Given the description of an element on the screen output the (x, y) to click on. 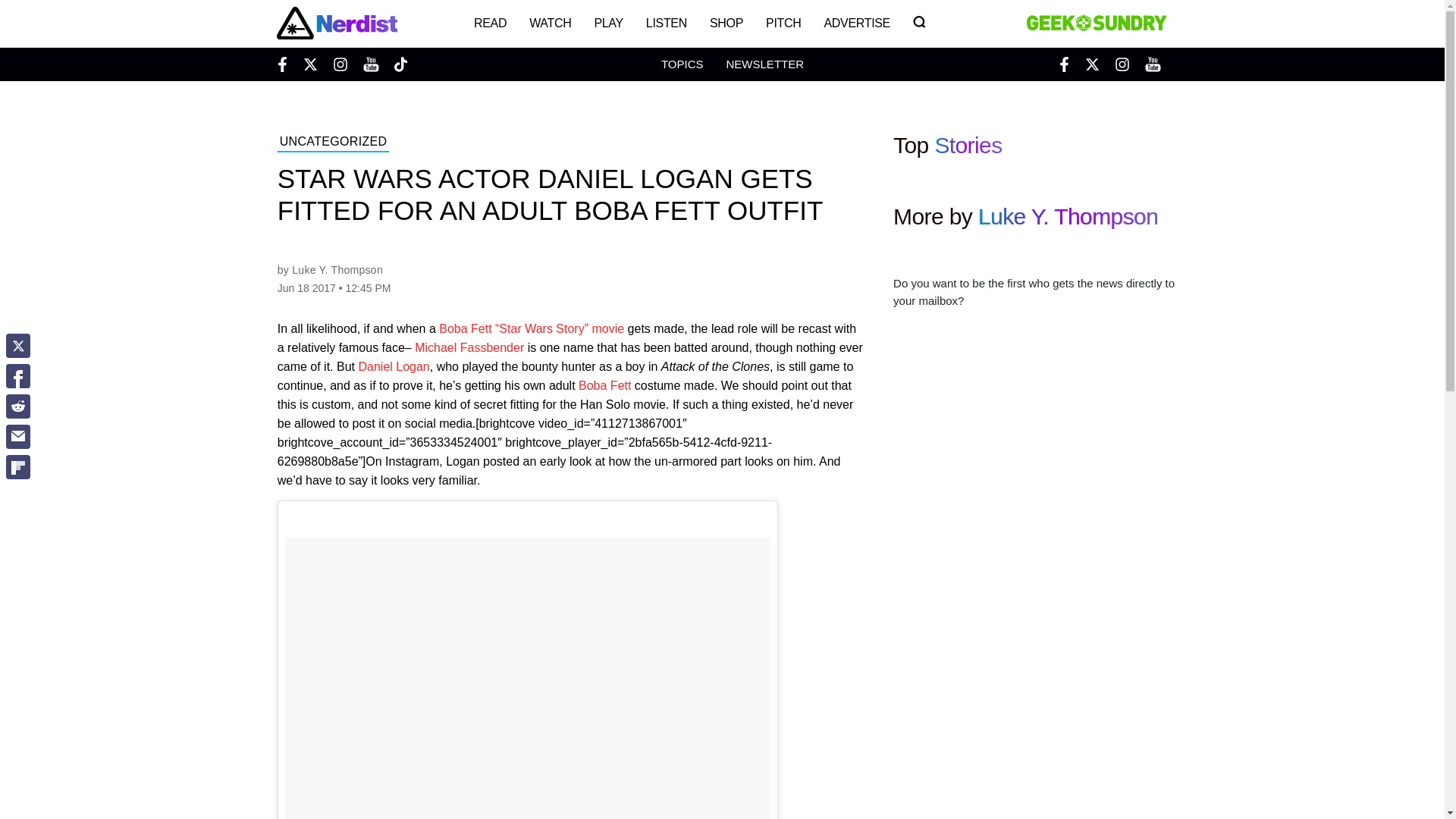
Michael Fassbender (469, 347)
Twitter Nerdist (309, 63)
PLAY (607, 22)
TOPICS (681, 63)
Luke Y. Thompson (337, 269)
PITCH (783, 22)
PITCH (783, 22)
Topics (681, 63)
Daniel Logan (393, 366)
WATCH (550, 22)
LISTEN (666, 22)
SHOP (726, 22)
ADVERTISE (856, 22)
UNCATEGORIZED (334, 143)
Twitter Geek and Sundry (1091, 63)
